Given the description of an element on the screen output the (x, y) to click on. 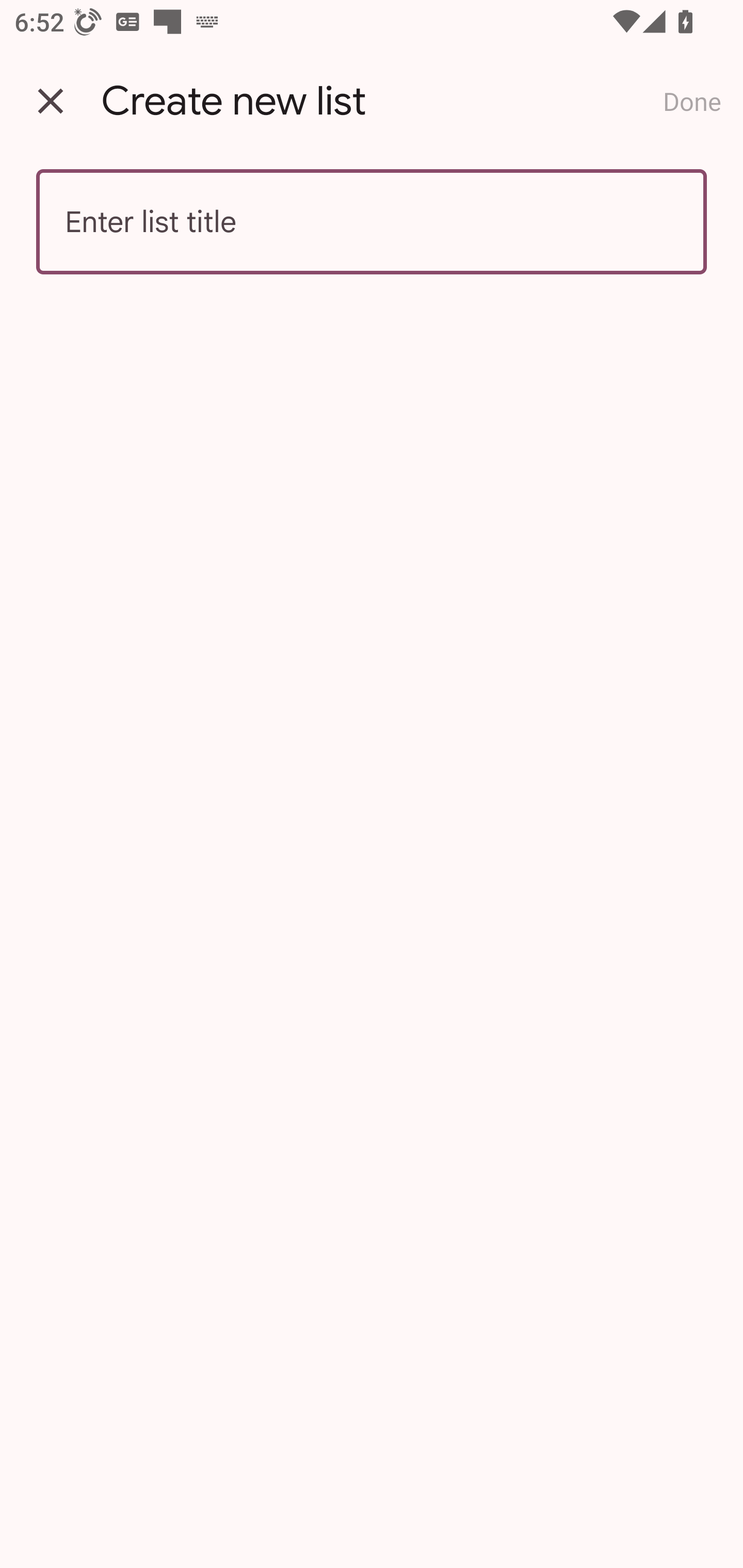
Back (50, 101)
Done (692, 101)
Enter list title (371, 221)
